Given the description of an element on the screen output the (x, y) to click on. 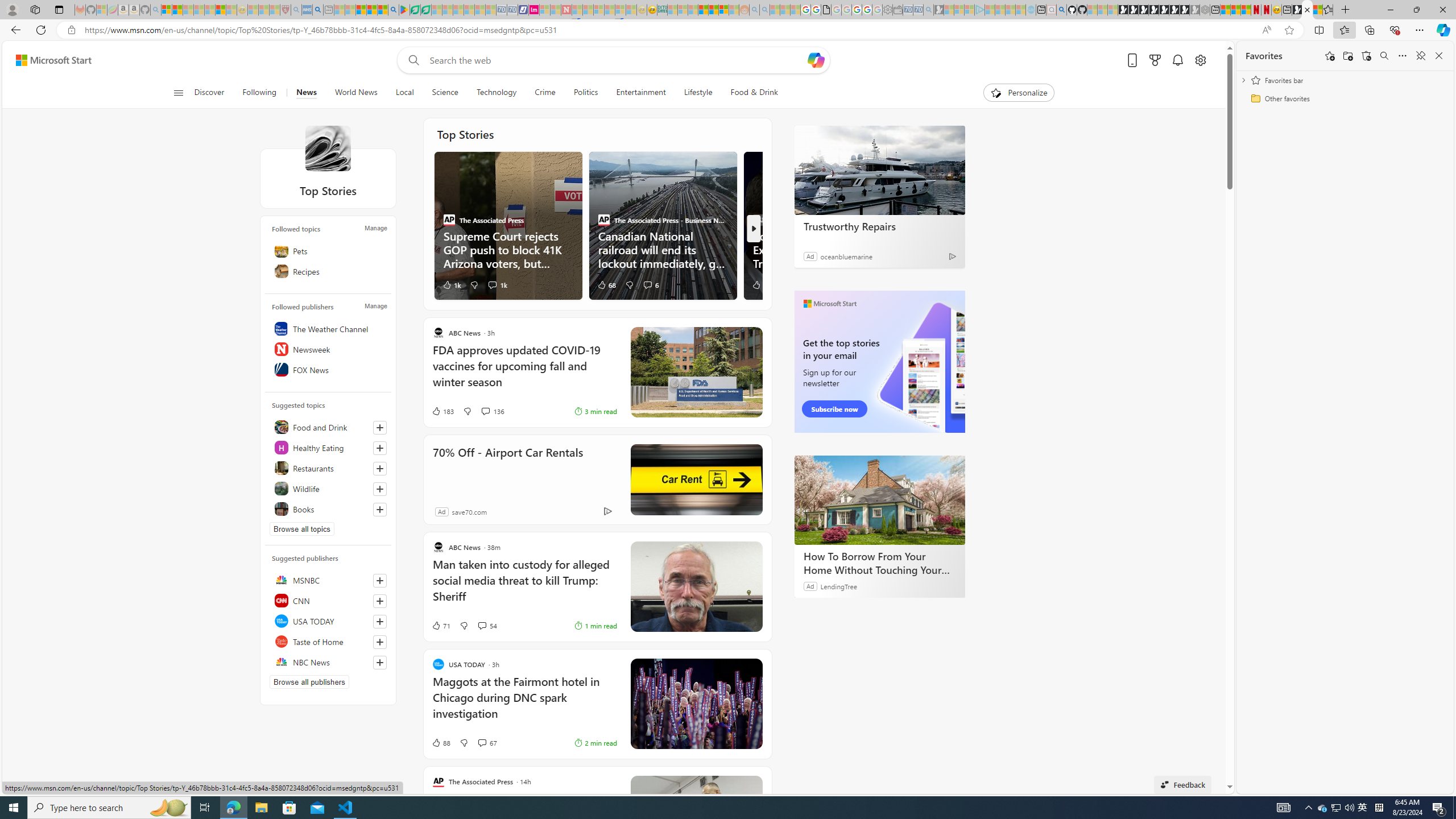
68 Like (606, 284)
The Weather Channel (327, 328)
Newsweek (327, 348)
Subscribe now (834, 408)
Trustworthy Repairs (879, 169)
